Given the description of an element on the screen output the (x, y) to click on. 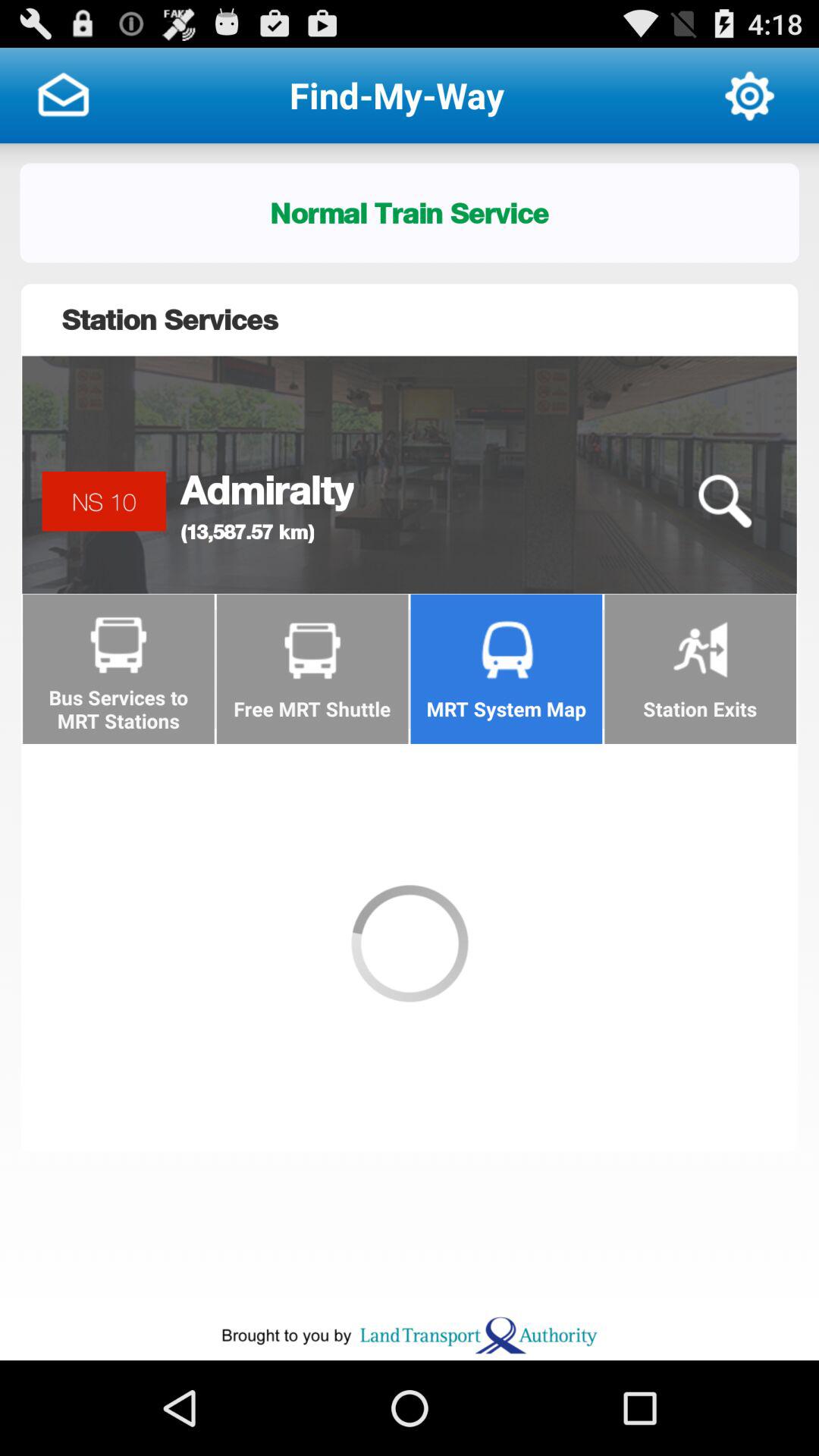
go to zoom option (724, 501)
